Given the description of an element on the screen output the (x, y) to click on. 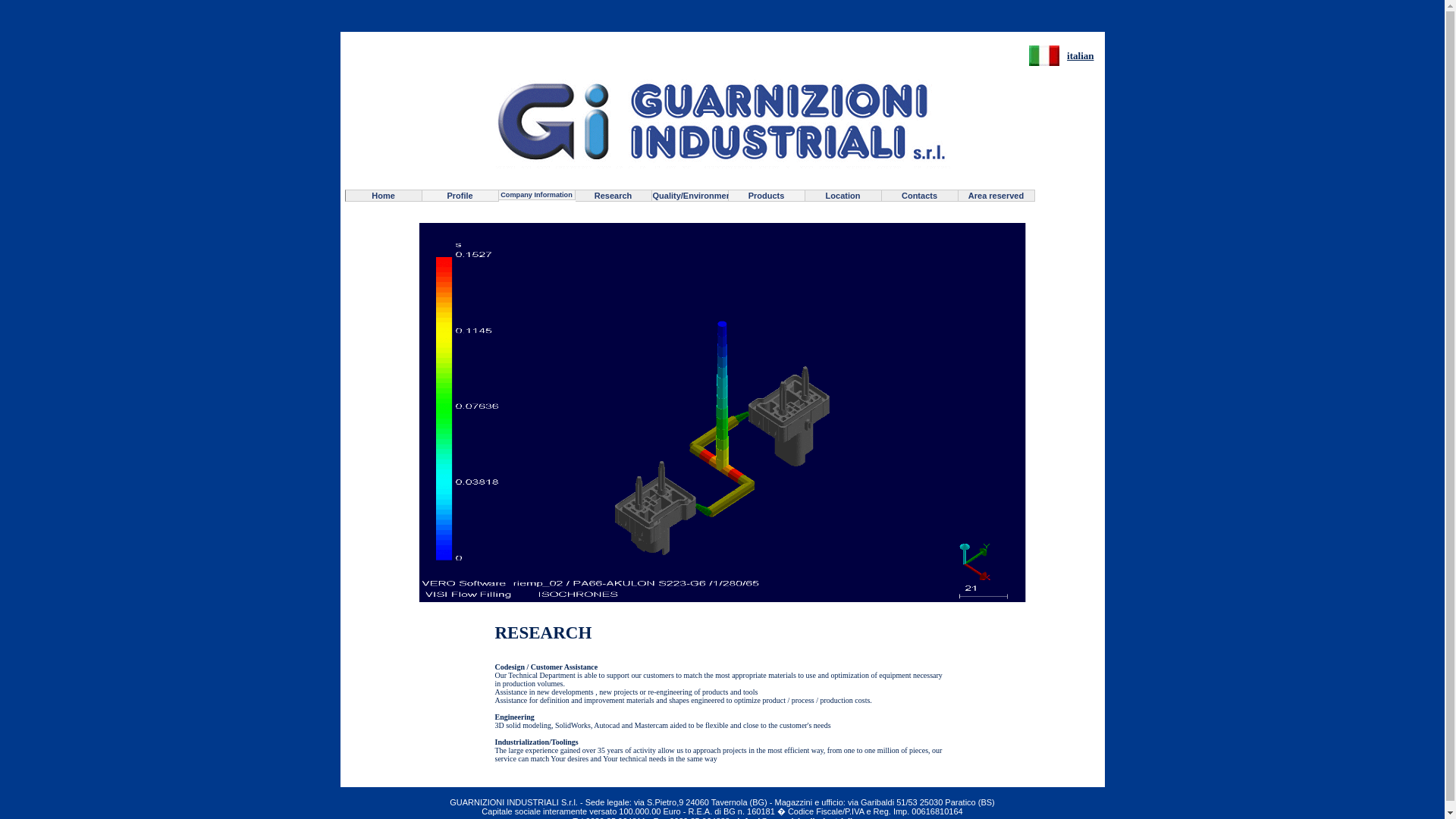
Research (612, 195)
 Location  (843, 195)
Profile (459, 195)
Company Information (537, 194)
 Products  (766, 195)
 Area reserved  (996, 195)
italian (1080, 55)
Home (382, 195)
 Contacts  (919, 195)
